Given the description of an element on the screen output the (x, y) to click on. 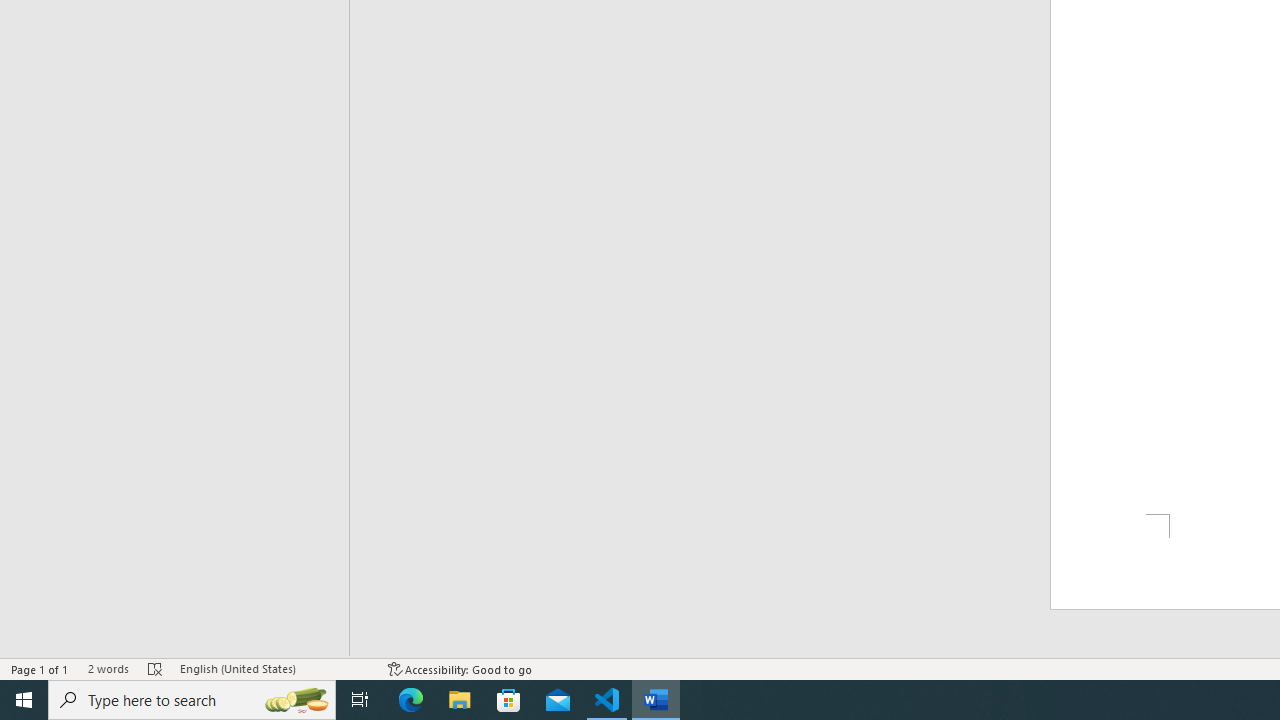
Accessibility Checker Accessibility: Good to go (460, 668)
Page Number Page 1 of 1 (39, 668)
Language English (United States) (274, 668)
Spelling and Grammar Check Errors (155, 668)
